Given the description of an element on the screen output the (x, y) to click on. 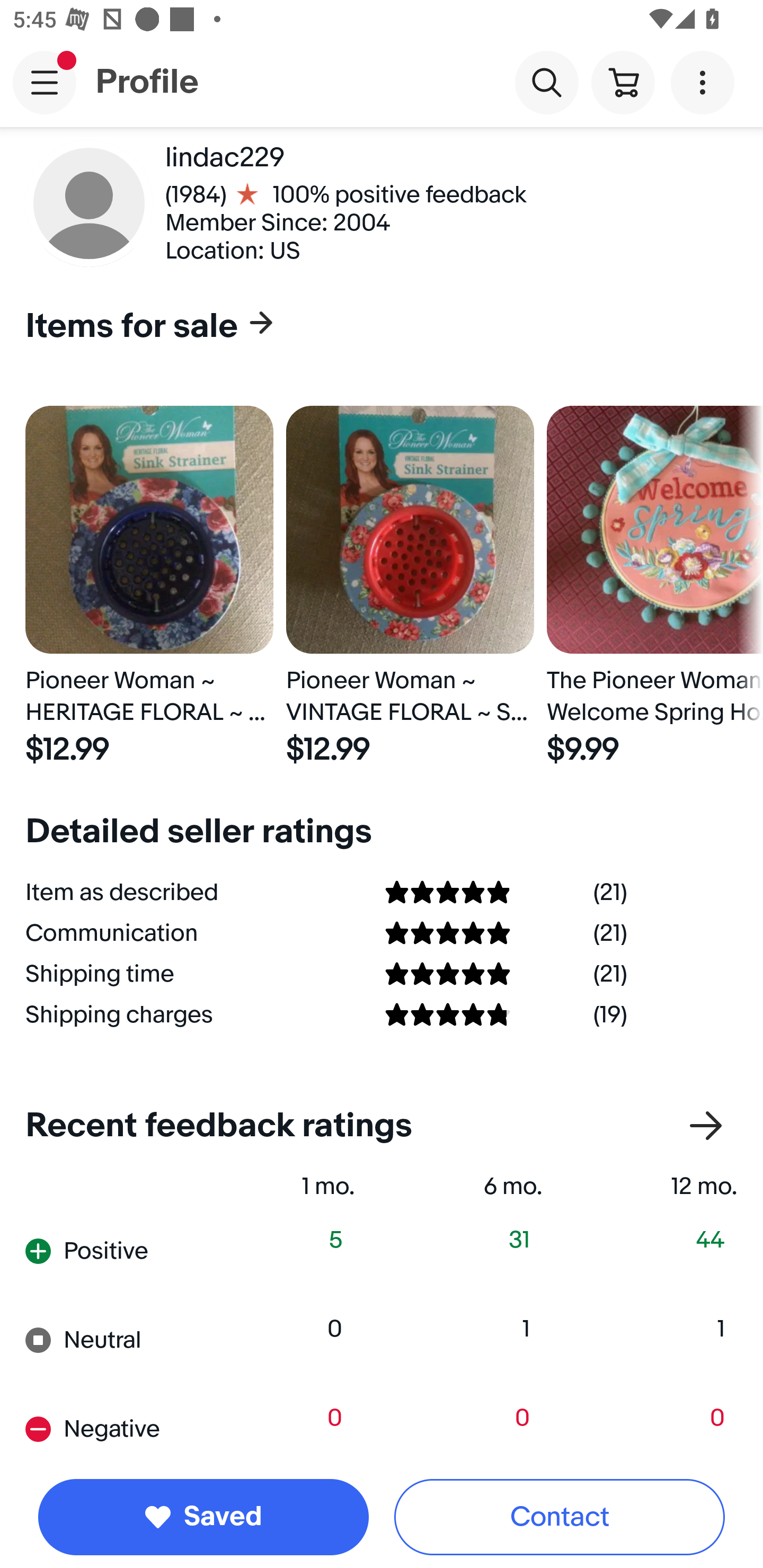
Main navigation, notification is pending, open (44, 82)
Search (546, 81)
Cart button shopping cart (623, 81)
More options (705, 81)
Items for sale Items for sale   (374, 326)
Recent feedback ratings (381, 1126)
Positive Open all positive rating details. (112, 1250)
Neutral Open all neutral rating details. (112, 1339)
Negative Open all negative rating details. (112, 1428)
Saved (203, 1516)
Contact (559, 1516)
